Given the description of an element on the screen output the (x, y) to click on. 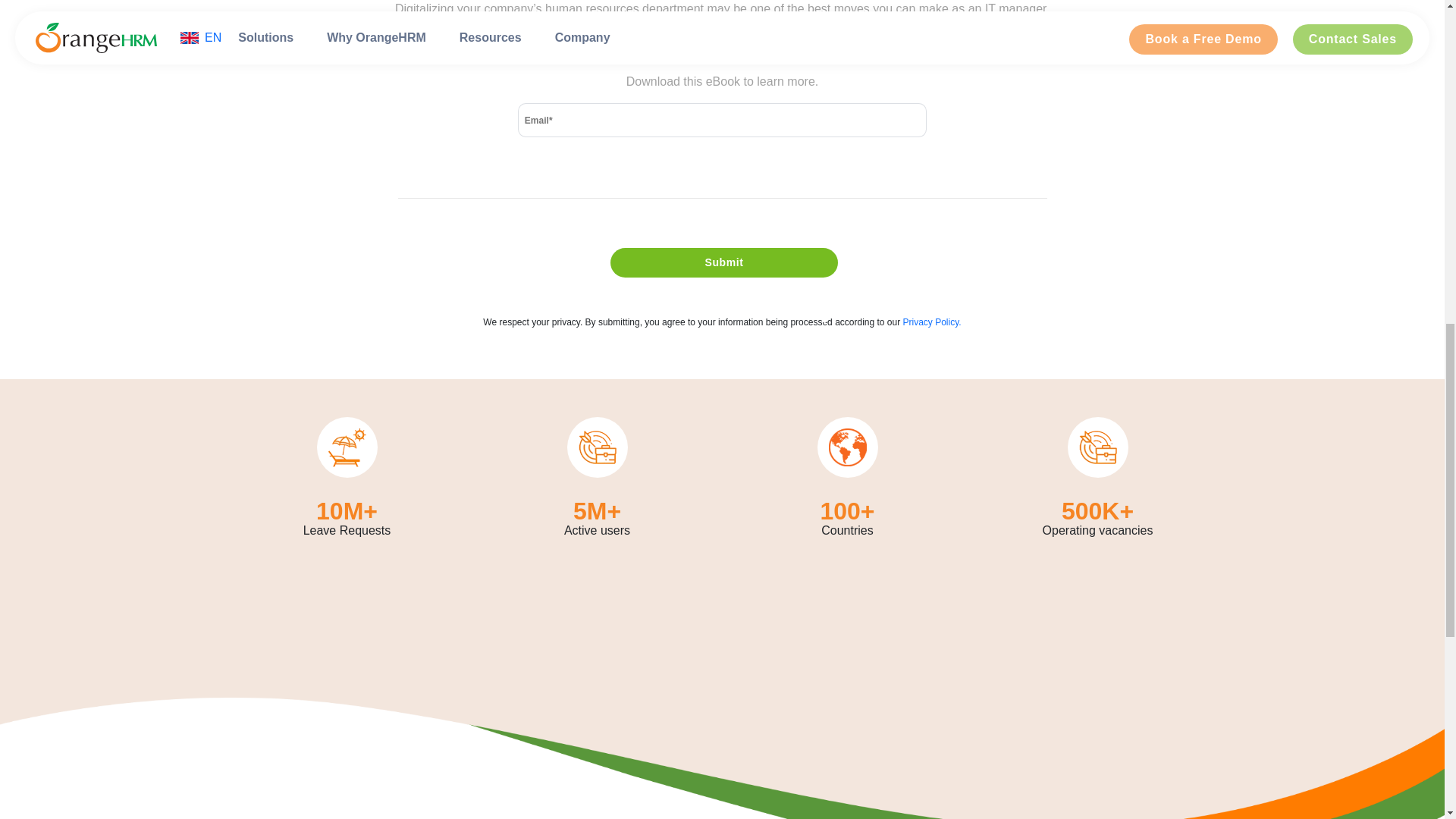
Submit (724, 262)
